Given the description of an element on the screen output the (x, y) to click on. 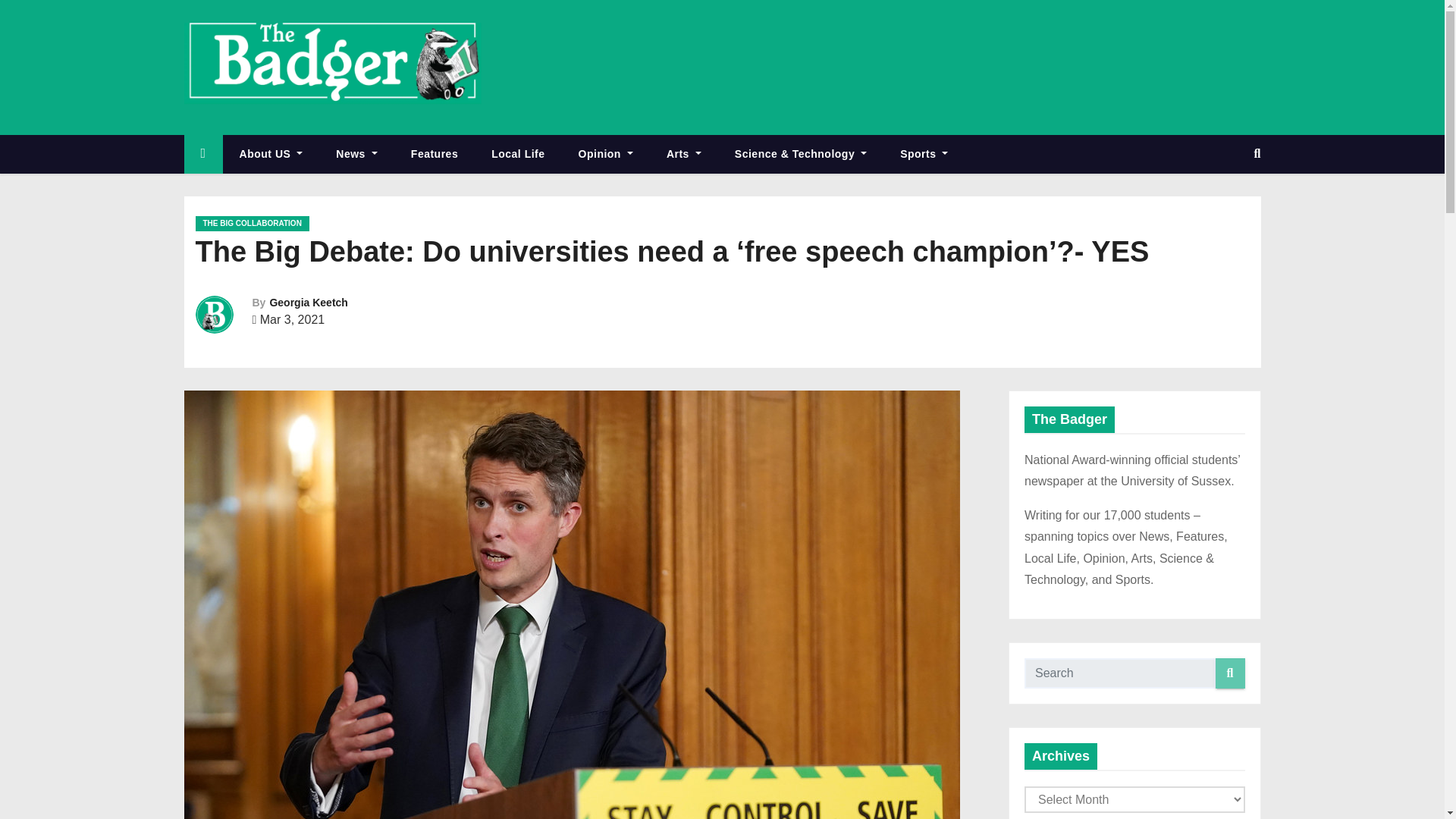
Local Life (517, 154)
Georgia Keetch (308, 302)
Features (434, 154)
THE BIG COLLABORATION (251, 223)
Local Life (517, 154)
Sports (923, 154)
News (356, 154)
Features (434, 154)
News (356, 154)
Arts (683, 154)
